Given the description of an element on the screen output the (x, y) to click on. 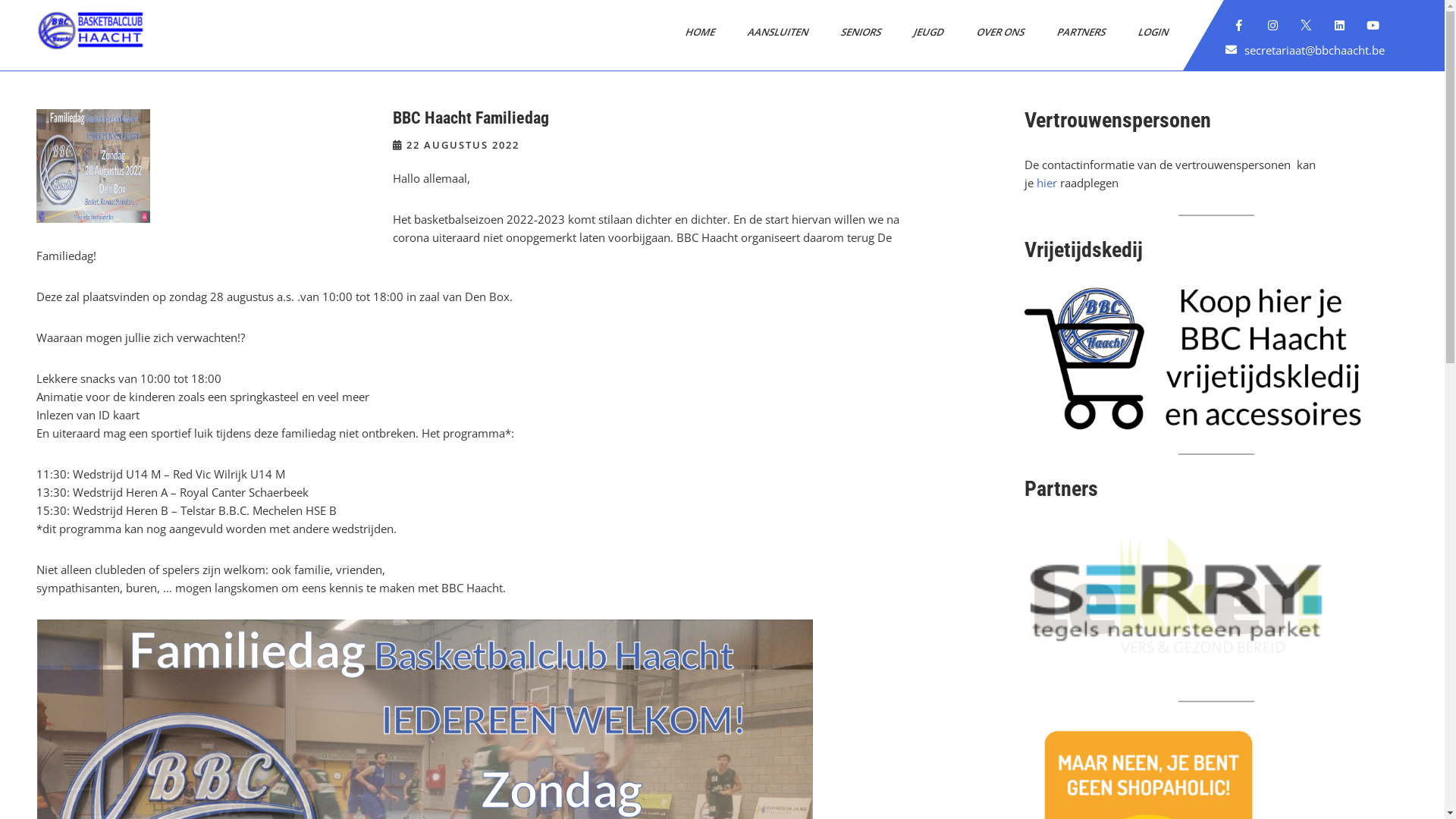
sponsor_serry-1 Element type: hover (1175, 599)
x Element type: hover (1306, 25)
facebook Element type: hover (1239, 25)
instagram Element type: hover (1273, 25)
secretariaat@bbchaacht.be Element type: text (1314, 49)
linkedin Element type: hover (1339, 25)
OVER ONS Element type: text (995, 31)
BBC Haacht Element type: text (85, 66)
PARTNERS Element type: text (1075, 31)
hi Element type: text (1041, 182)
LOGIN Element type: text (1147, 31)
e Element type: text (1049, 182)
r Element type: text (1054, 182)
youtube Element type: hover (1373, 25)
HOME Element type: text (694, 31)
AANSLUITEN Element type: text (772, 31)
SENIORS Element type: text (855, 31)
JEUGD Element type: text (923, 31)
